Given the description of an element on the screen output the (x, y) to click on. 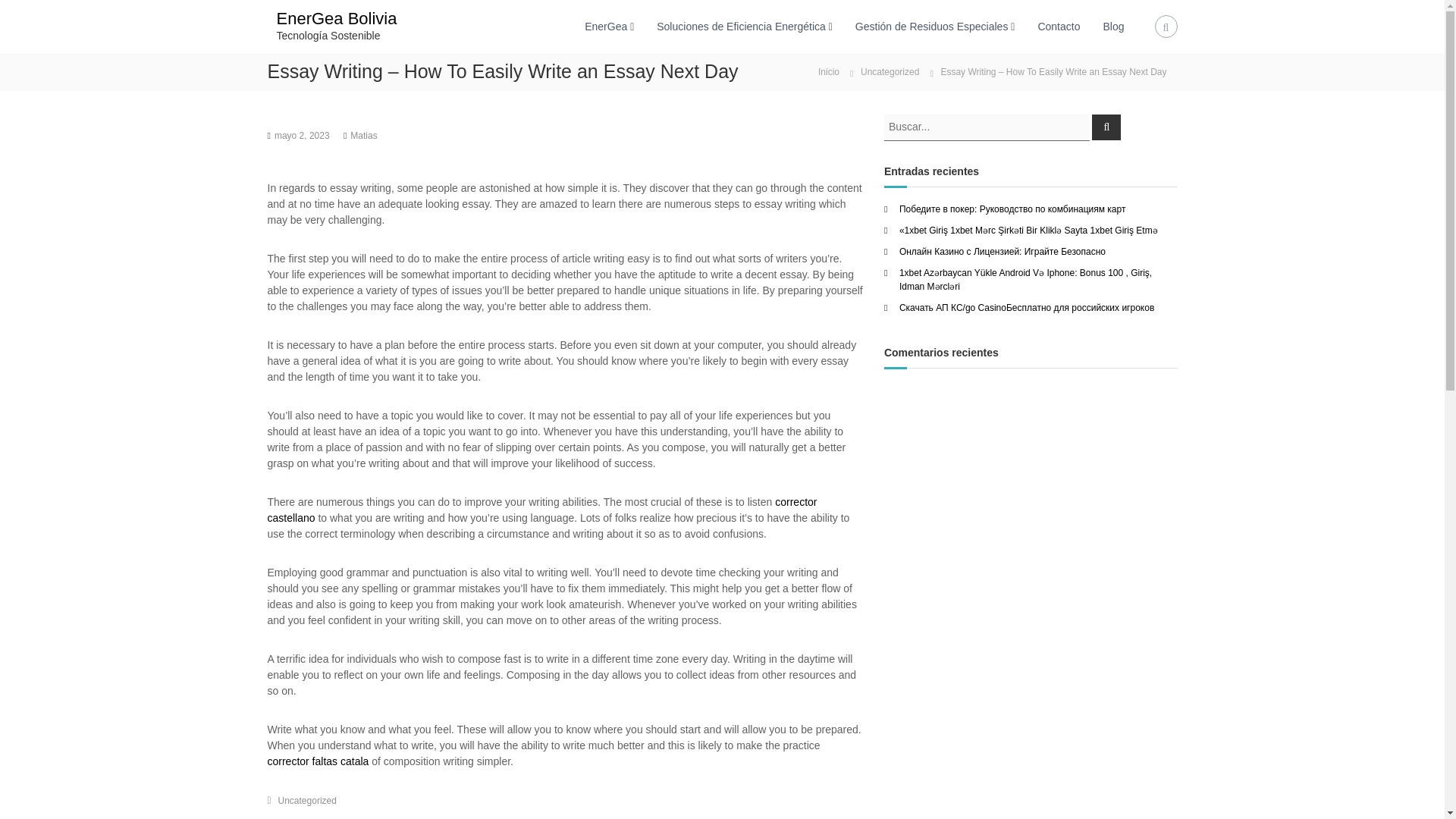
Uncategorized (307, 799)
corrector castellano (541, 510)
Blog (1113, 25)
EnerGea (606, 25)
mayo 2, 2023 (302, 135)
Inicio (829, 70)
Inicio (829, 70)
Buscar (1106, 126)
corrector faltas catala (317, 761)
Uncategorized (889, 71)
